Given the description of an element on the screen output the (x, y) to click on. 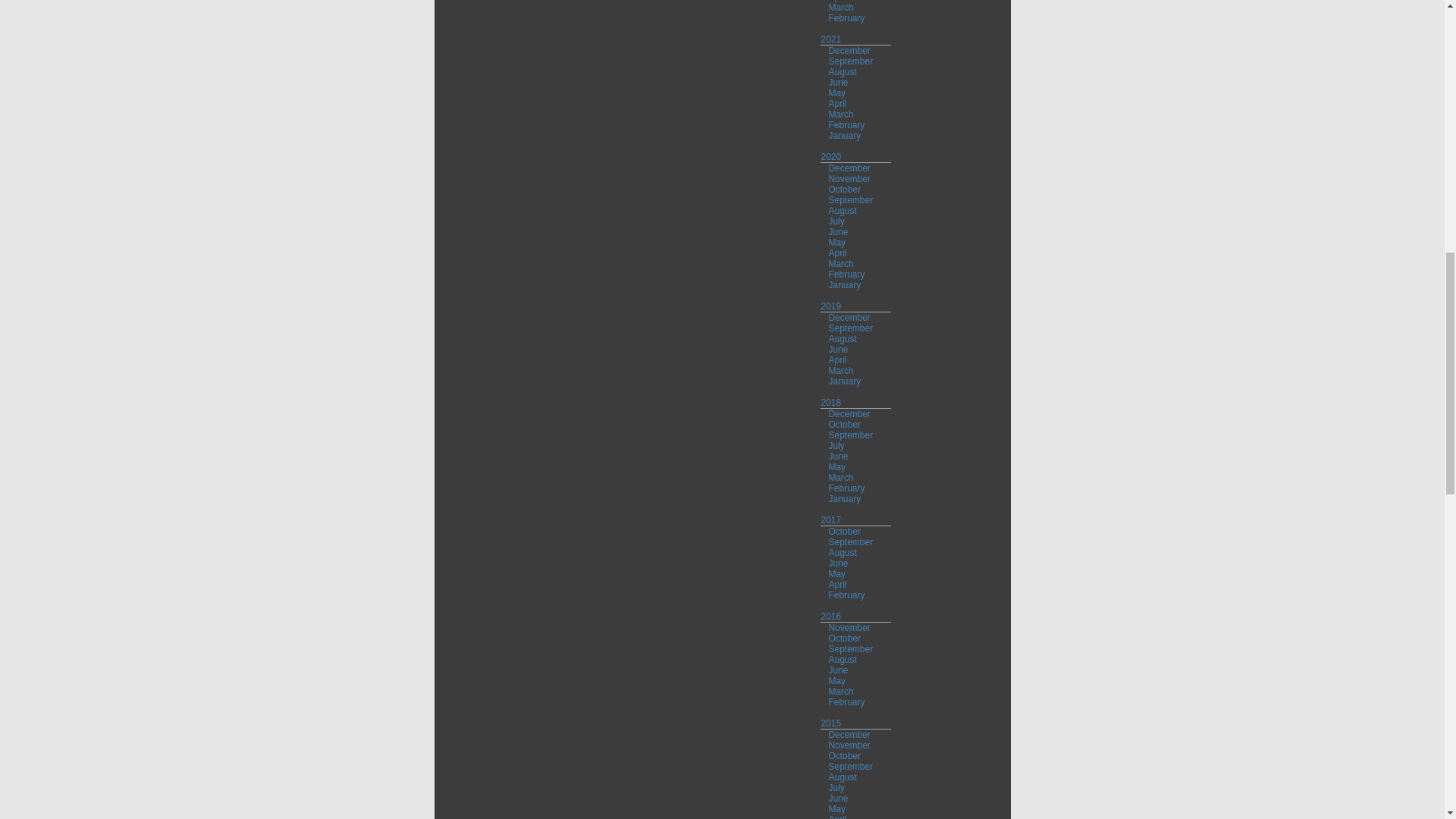
September (850, 61)
June (837, 81)
2021 (831, 39)
March (840, 7)
April (836, 1)
December (848, 50)
February (846, 18)
August (842, 71)
